Given the description of an element on the screen output the (x, y) to click on. 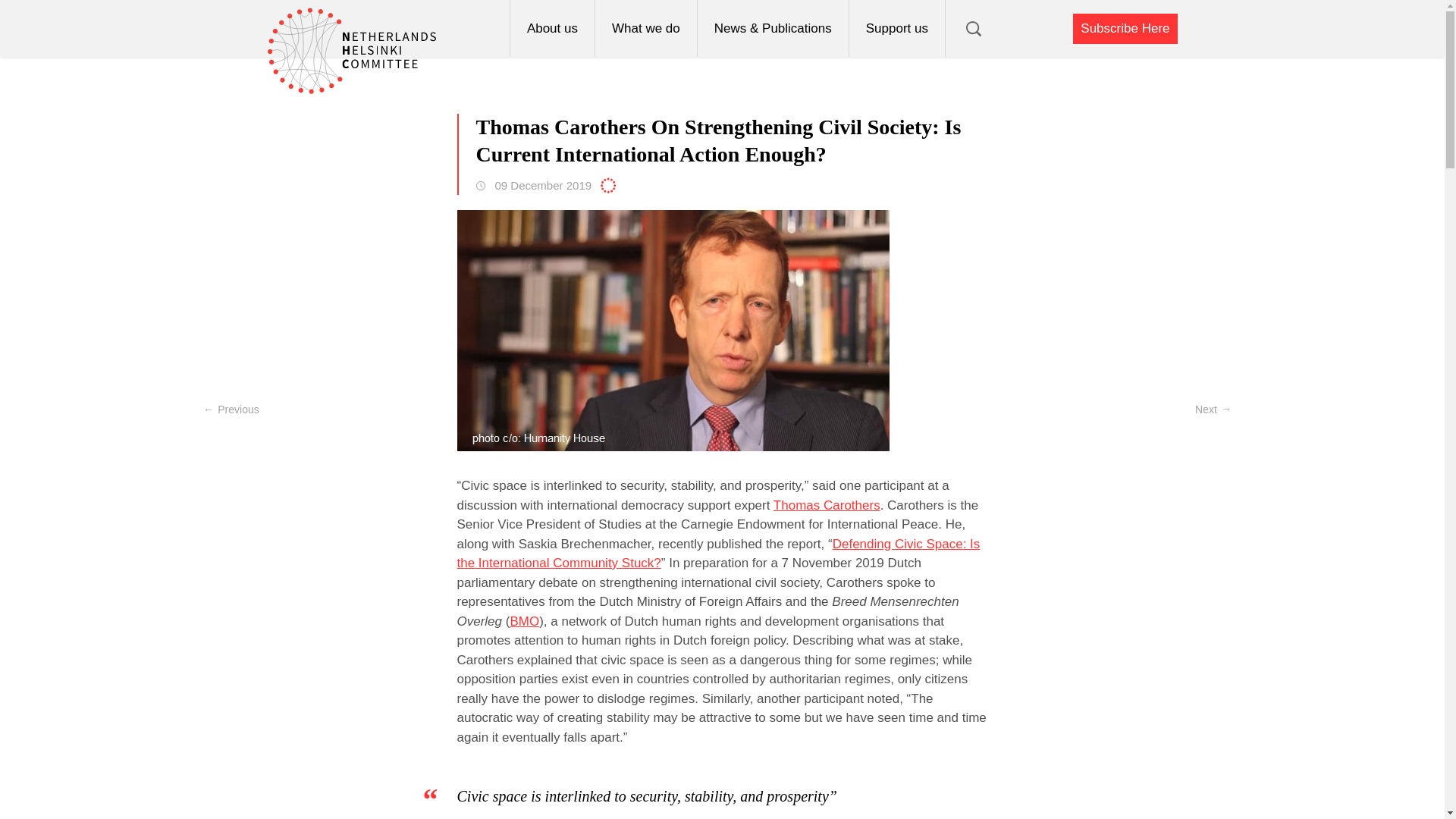
Support us (896, 28)
Next (1213, 409)
Subscribe Here (1124, 28)
Previous (231, 409)
BMO (523, 621)
Defending Civic Space: Is the International Community Stuck? (718, 553)
About us (551, 28)
What we do (645, 28)
Thomas Carothers (826, 504)
